Given the description of an element on the screen output the (x, y) to click on. 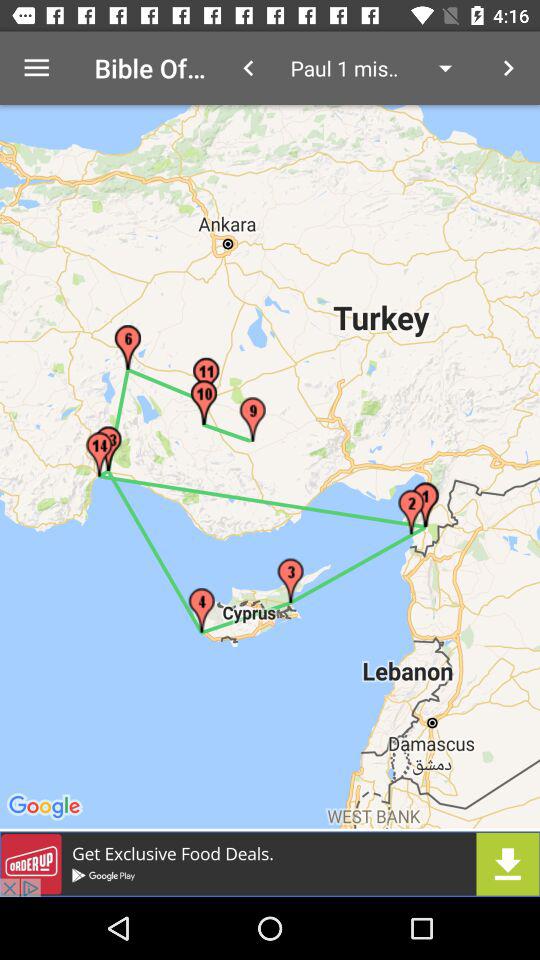
downloade pattern (270, 864)
